Given the description of an element on the screen output the (x, y) to click on. 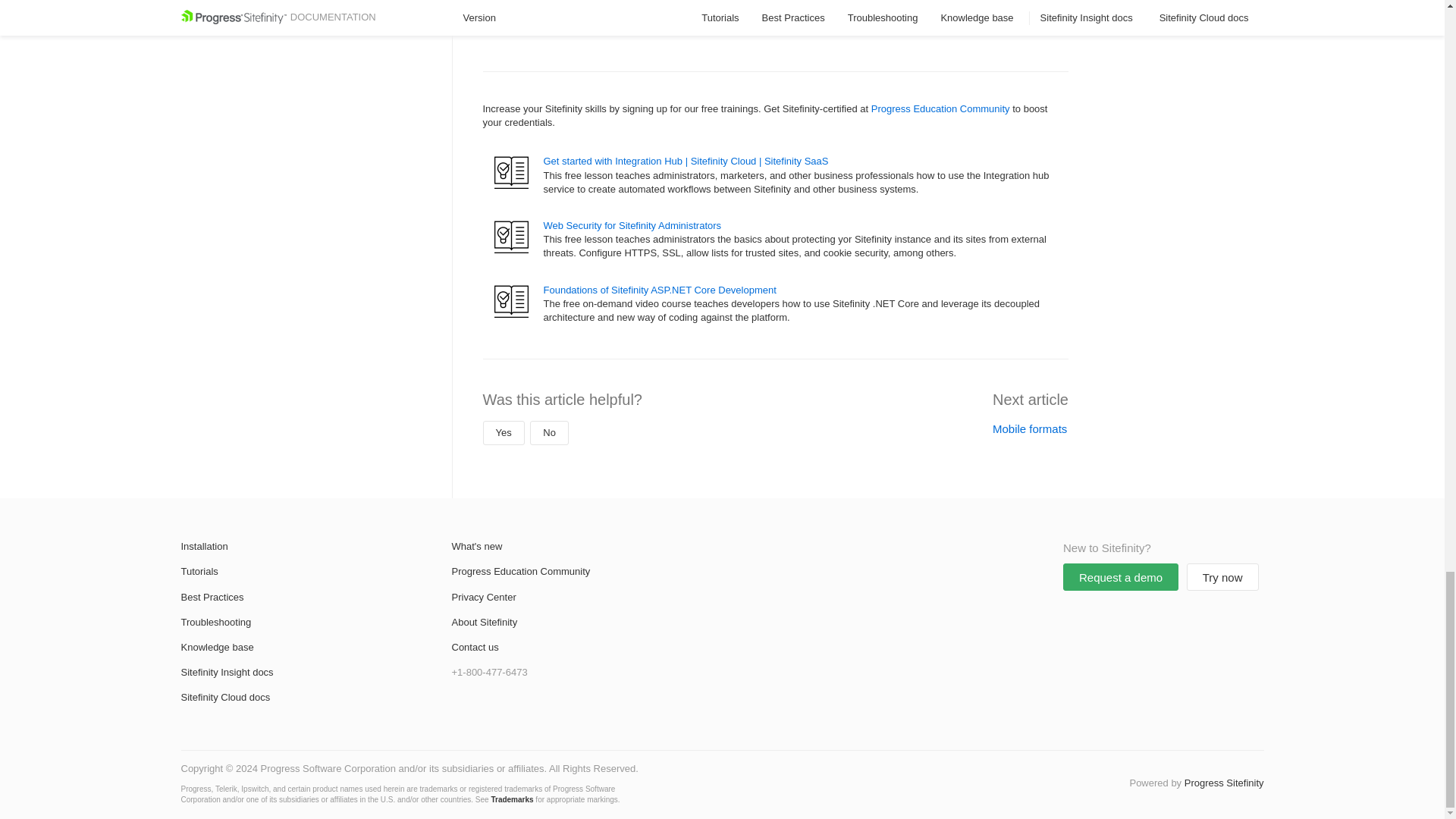
Progress Education Community (940, 108)
Add a custom URL to the sitemap (621, 10)
